Given the description of an element on the screen output the (x, y) to click on. 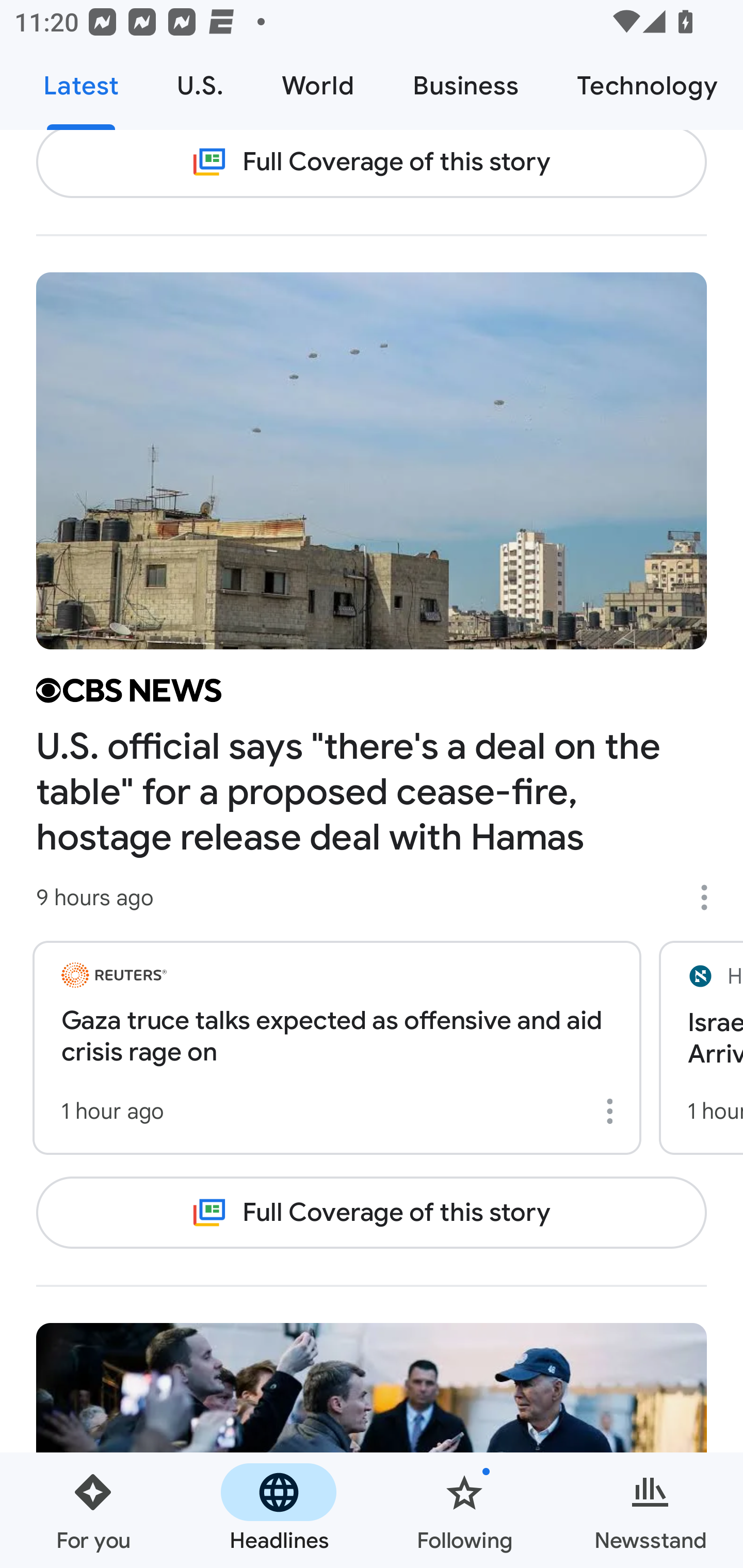
U.S. (199, 86)
World (317, 86)
Business (465, 86)
Technology (645, 86)
Full Coverage of this story (371, 163)
More options (711, 897)
More options (613, 1110)
Full Coverage of this story (371, 1212)
For you (92, 1509)
Headlines (278, 1509)
Following (464, 1509)
Newsstand (650, 1509)
